Given the description of an element on the screen output the (x, y) to click on. 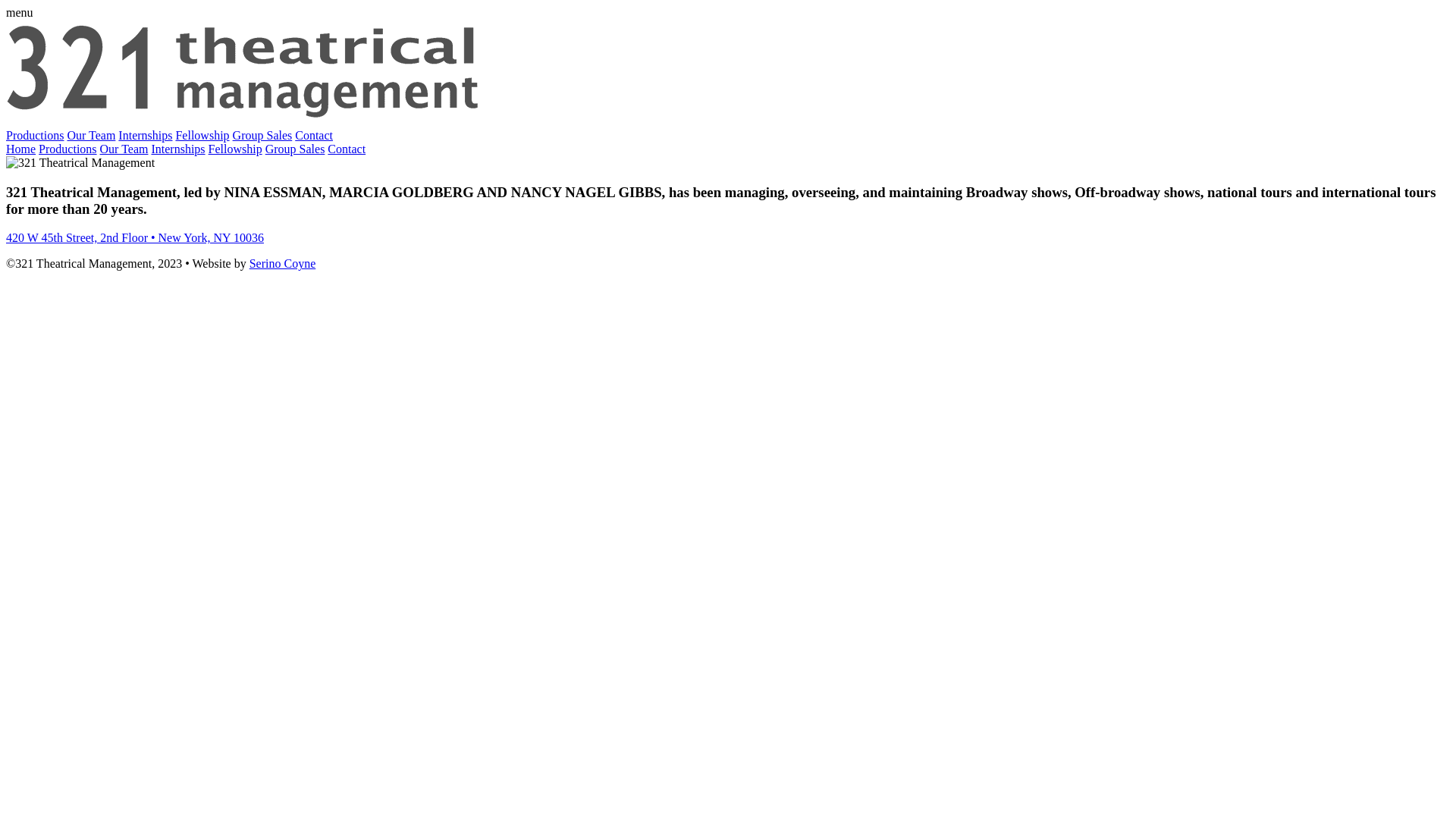
Fellowship Element type: text (202, 134)
Internships Element type: text (177, 148)
Group Sales Element type: text (262, 134)
Contact Element type: text (346, 148)
Our Team Element type: text (124, 148)
Productions Element type: text (67, 148)
Home Element type: text (20, 148)
Serino Coyne Element type: text (282, 263)
Contact Element type: text (313, 134)
Fellowship Element type: text (235, 148)
Our Team Element type: text (90, 134)
Internships Element type: text (145, 134)
Group Sales Element type: text (295, 148)
Productions Element type: text (34, 134)
